Given the description of an element on the screen output the (x, y) to click on. 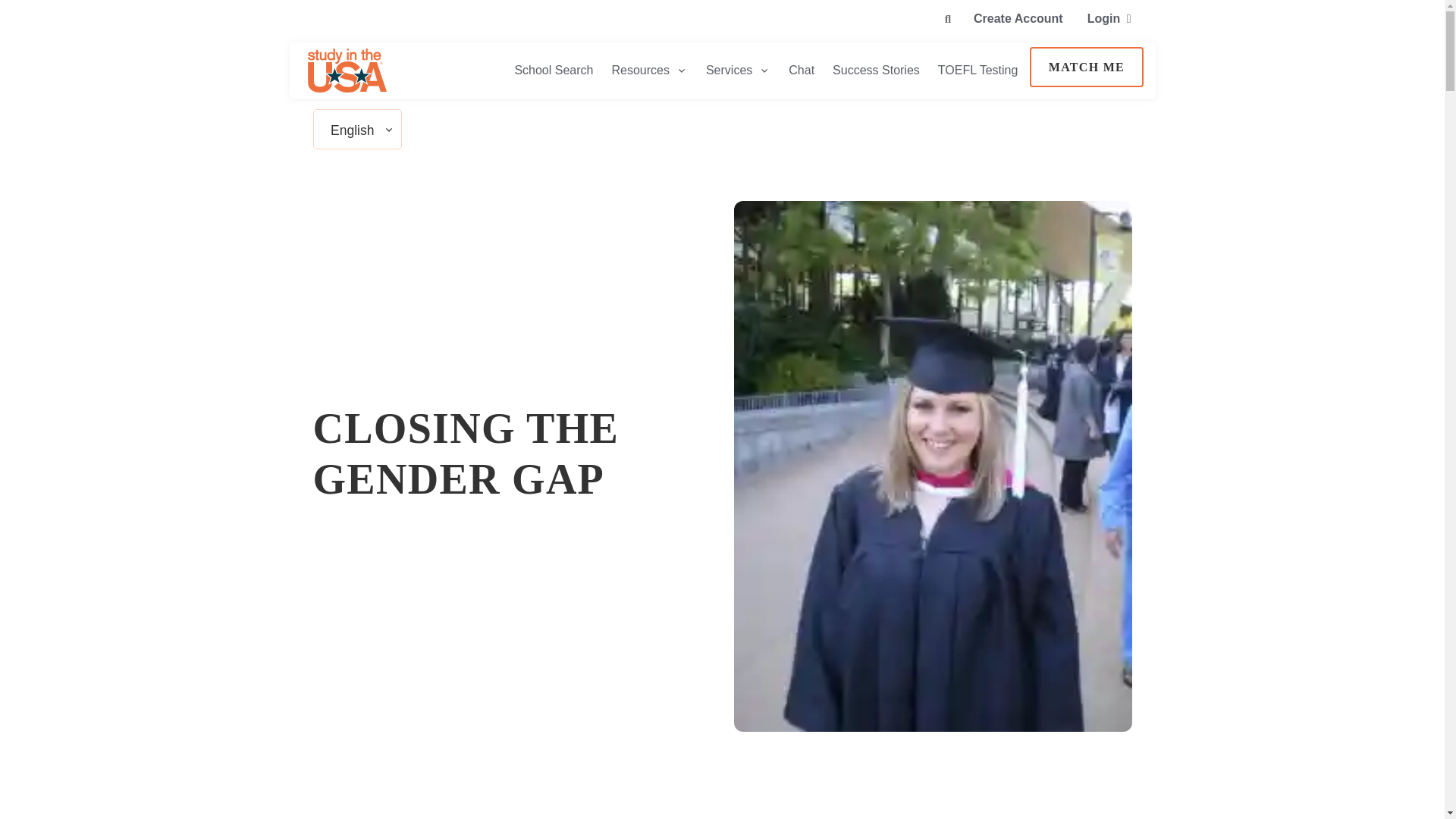
TOEFL Testing (977, 70)
Create Account (1017, 16)
Chat (801, 70)
Resources (648, 70)
MATCH ME (1085, 66)
Login (1108, 16)
Services (737, 70)
School Search (553, 70)
English (352, 130)
Open search panel. (947, 18)
Success Stories (876, 70)
